Given the description of an element on the screen output the (x, y) to click on. 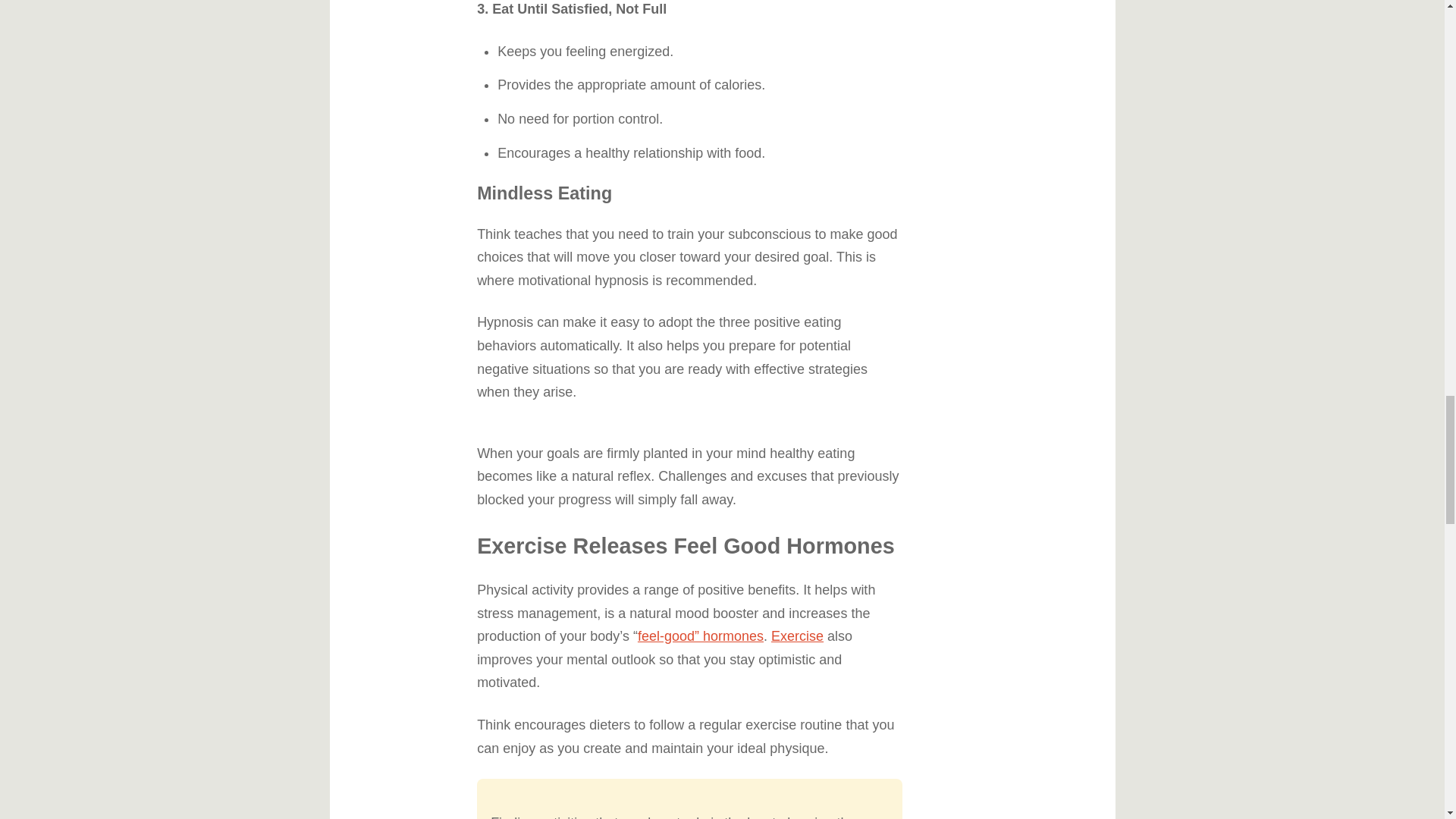
Exercise (797, 635)
